Given the description of an element on the screen output the (x, y) to click on. 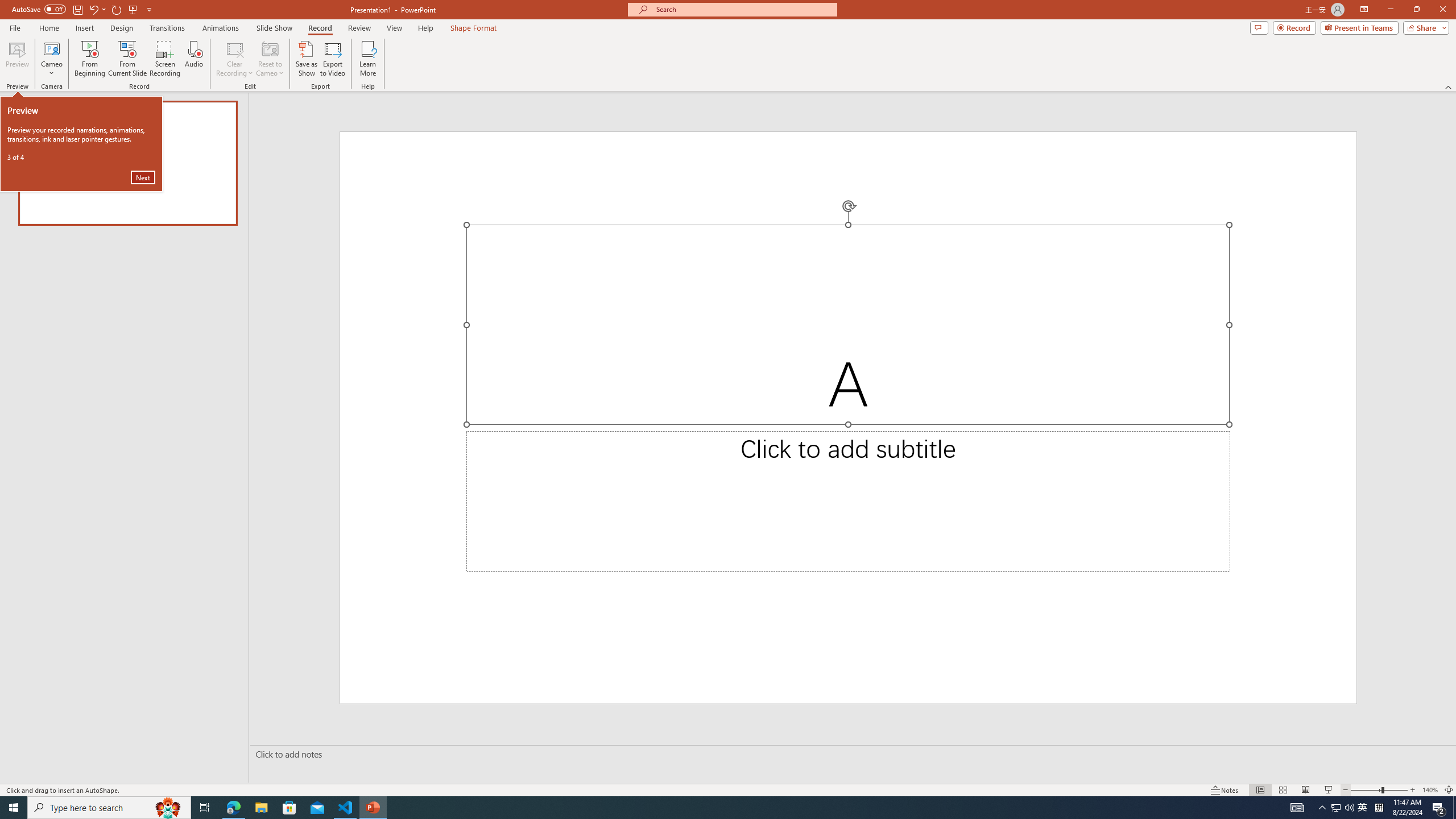
Screen Recording (165, 58)
